Given the description of an element on the screen output the (x, y) to click on. 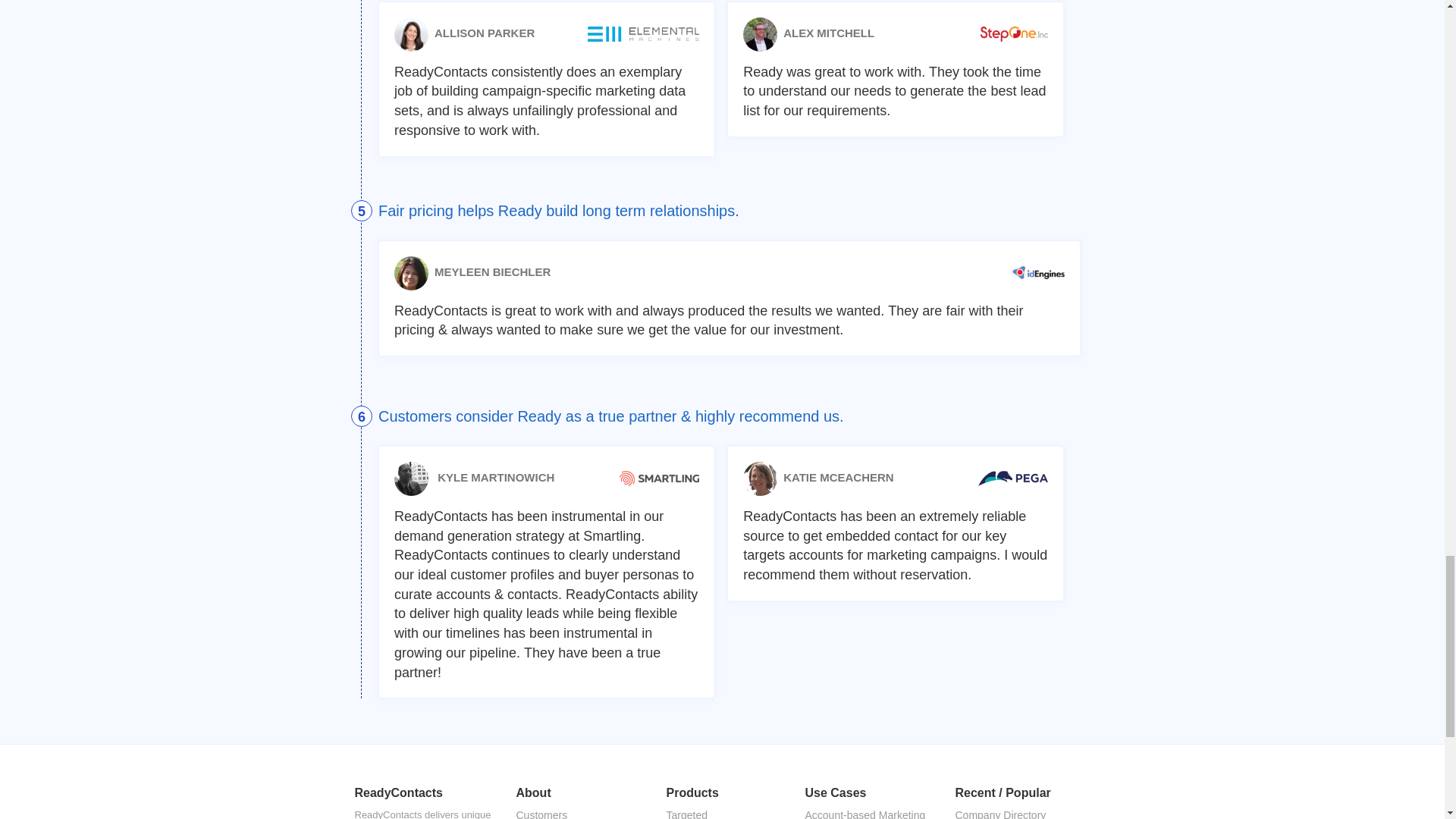
Customers (577, 812)
Account-based Marketing (866, 812)
Targeted (722, 812)
Account-based Marketing (866, 812)
Customers (577, 812)
